Given the description of an element on the screen output the (x, y) to click on. 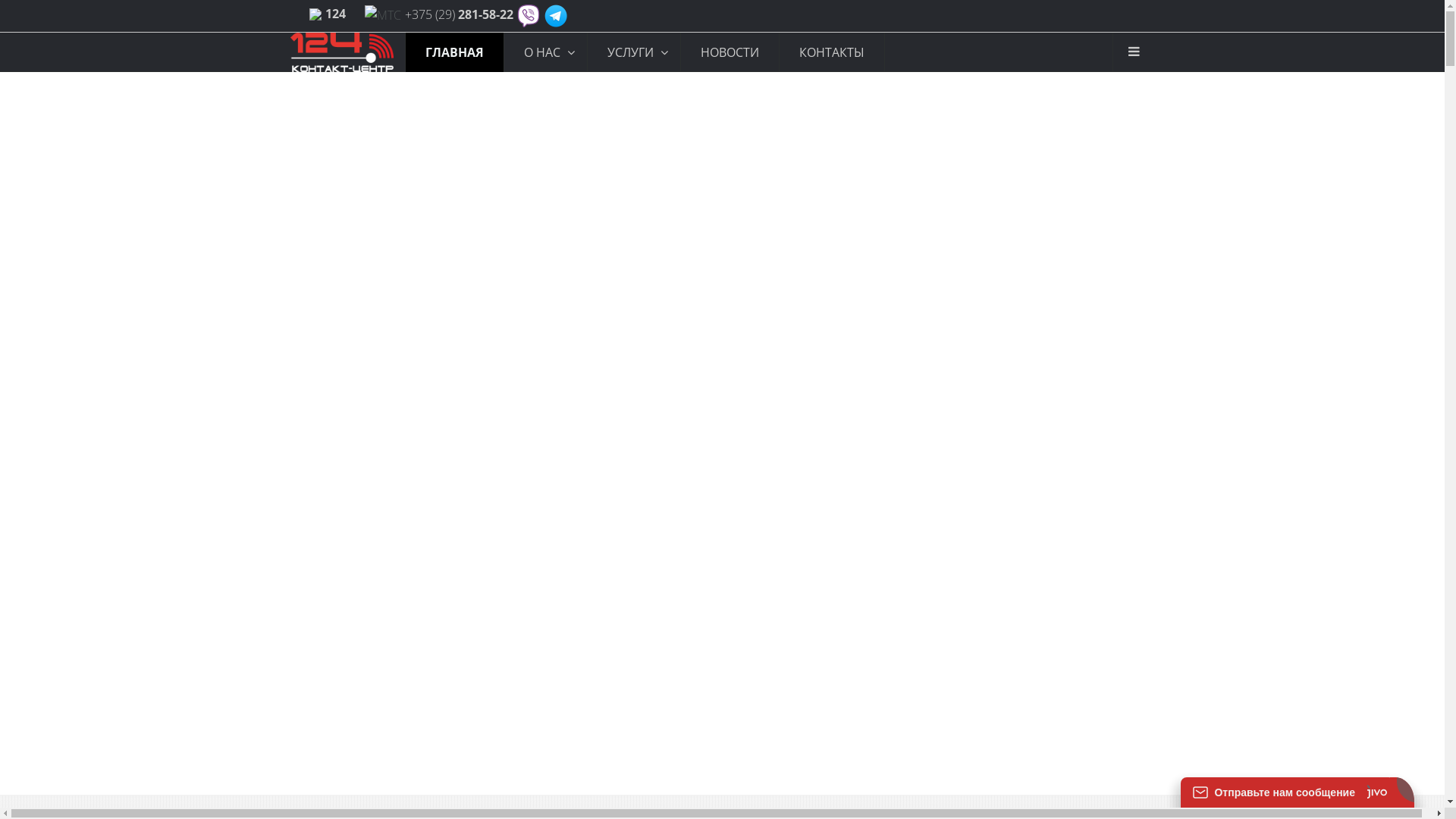
124 Element type: text (334, 13)
+375 (29) 281-58-22 Element type: text (458, 14)
